Given the description of an element on the screen output the (x, y) to click on. 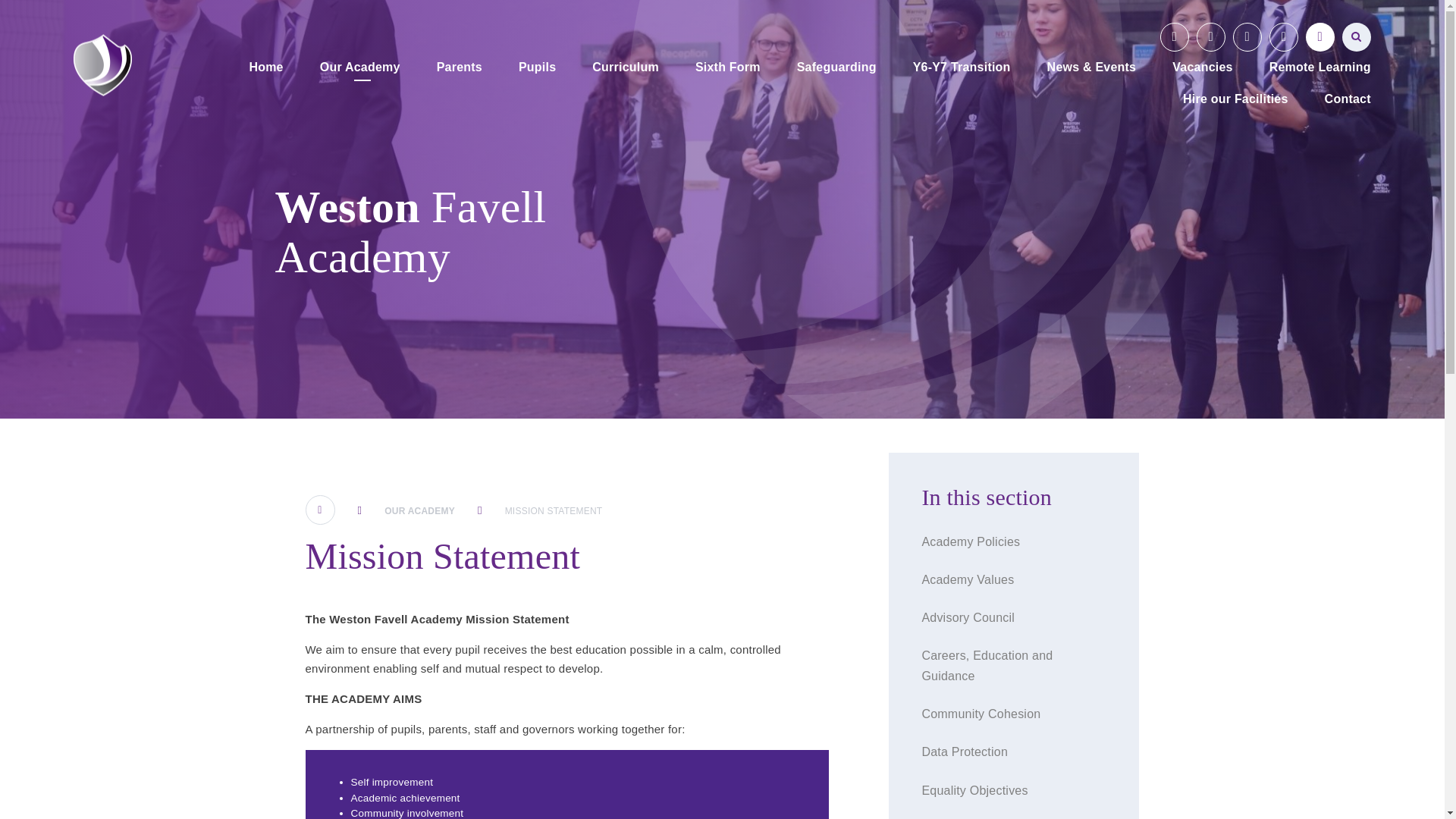
Home (265, 67)
search... (1356, 36)
Weston Favell (103, 64)
YouTube (1174, 36)
Our Academy (360, 67)
Facebook (1247, 36)
Search... (1356, 36)
Search... (1356, 36)
Twitter (1210, 36)
